Given the description of an element on the screen output the (x, y) to click on. 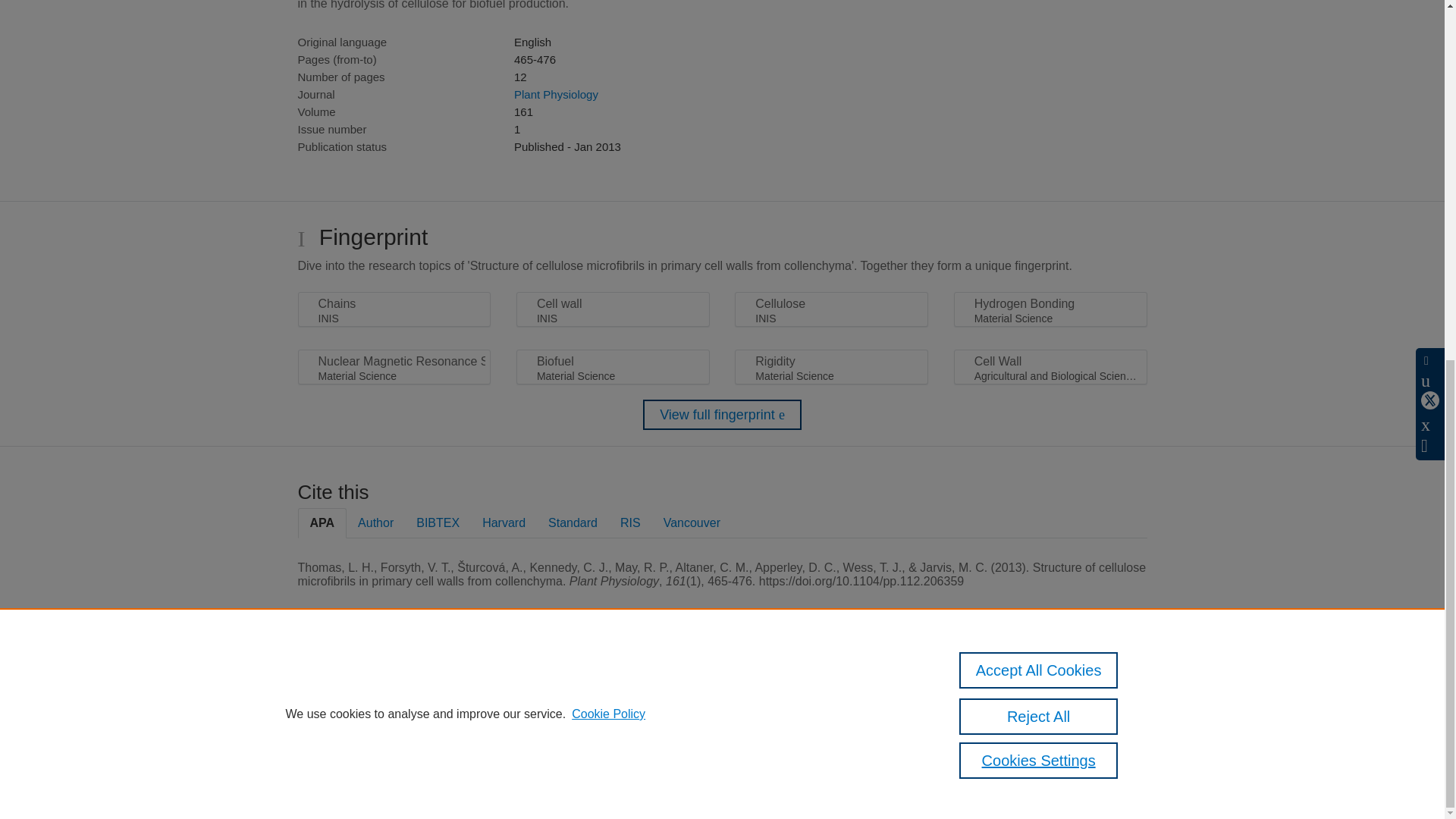
Plant Physiology (555, 93)
Scopus (394, 686)
Pure (362, 686)
View full fingerprint (722, 414)
